Given the description of an element on the screen output the (x, y) to click on. 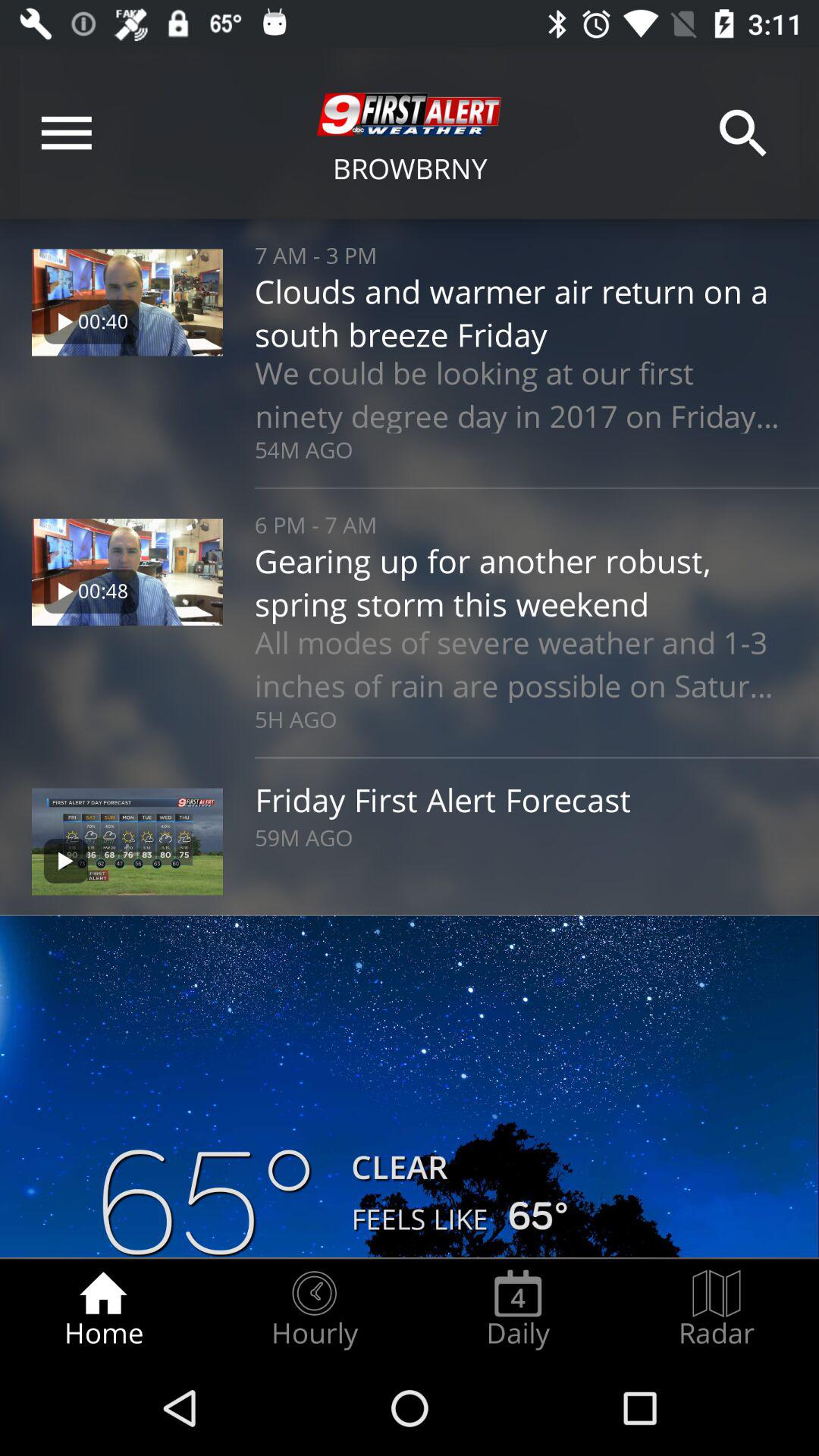
flip until home item (103, 1309)
